Given the description of an element on the screen output the (x, y) to click on. 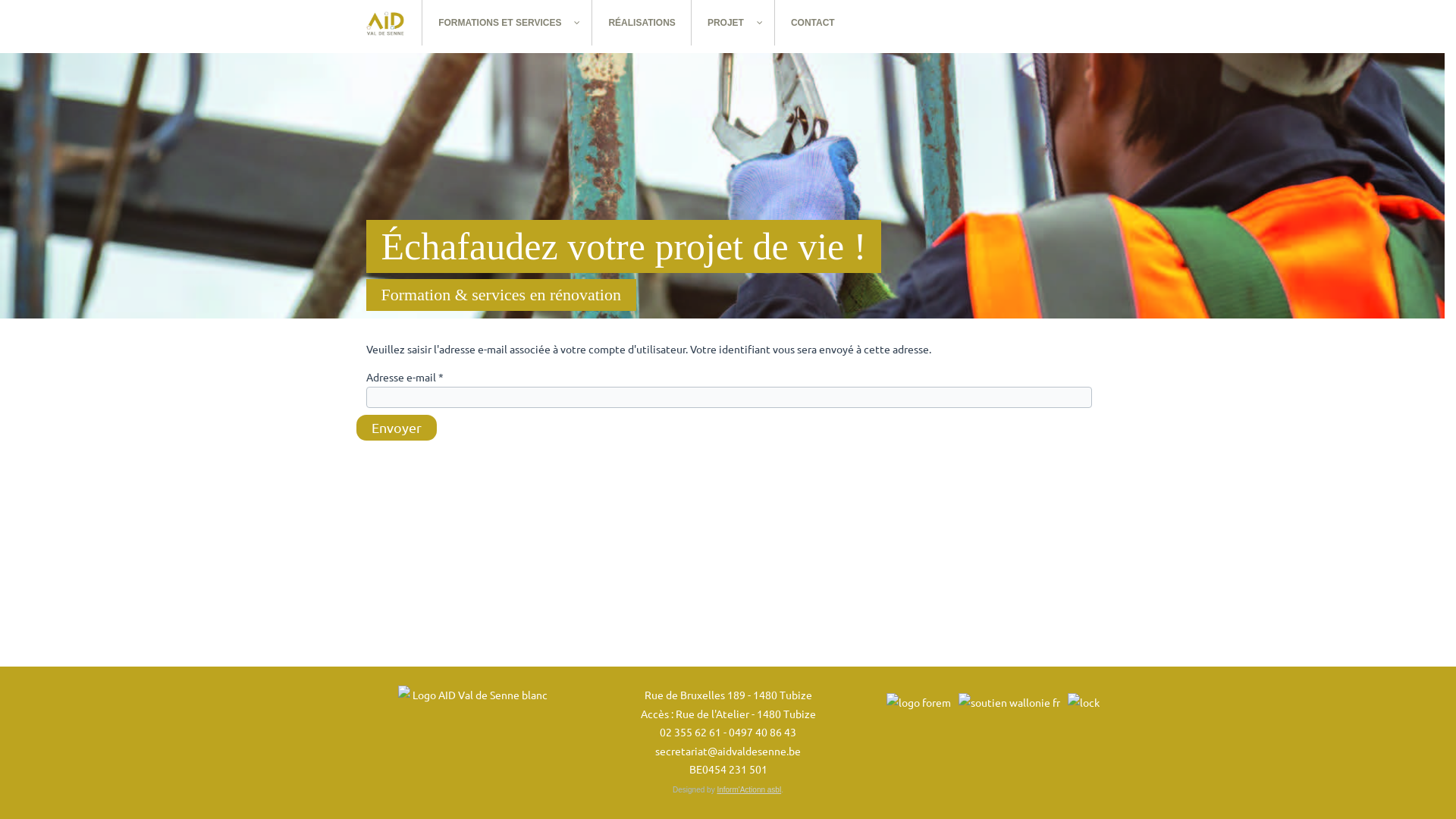
CONTACT Element type: text (812, 22)
   Element type: text (385, 22)
Envoyer Element type: text (396, 427)
secretariat@aidvaldesenne.be Element type: text (727, 749)
Inform'Actionn asbl Element type: text (748, 789)
FORMATIONS ET SERVICES Element type: text (507, 22)
PROJET Element type: text (733, 22)
